Given the description of an element on the screen output the (x, y) to click on. 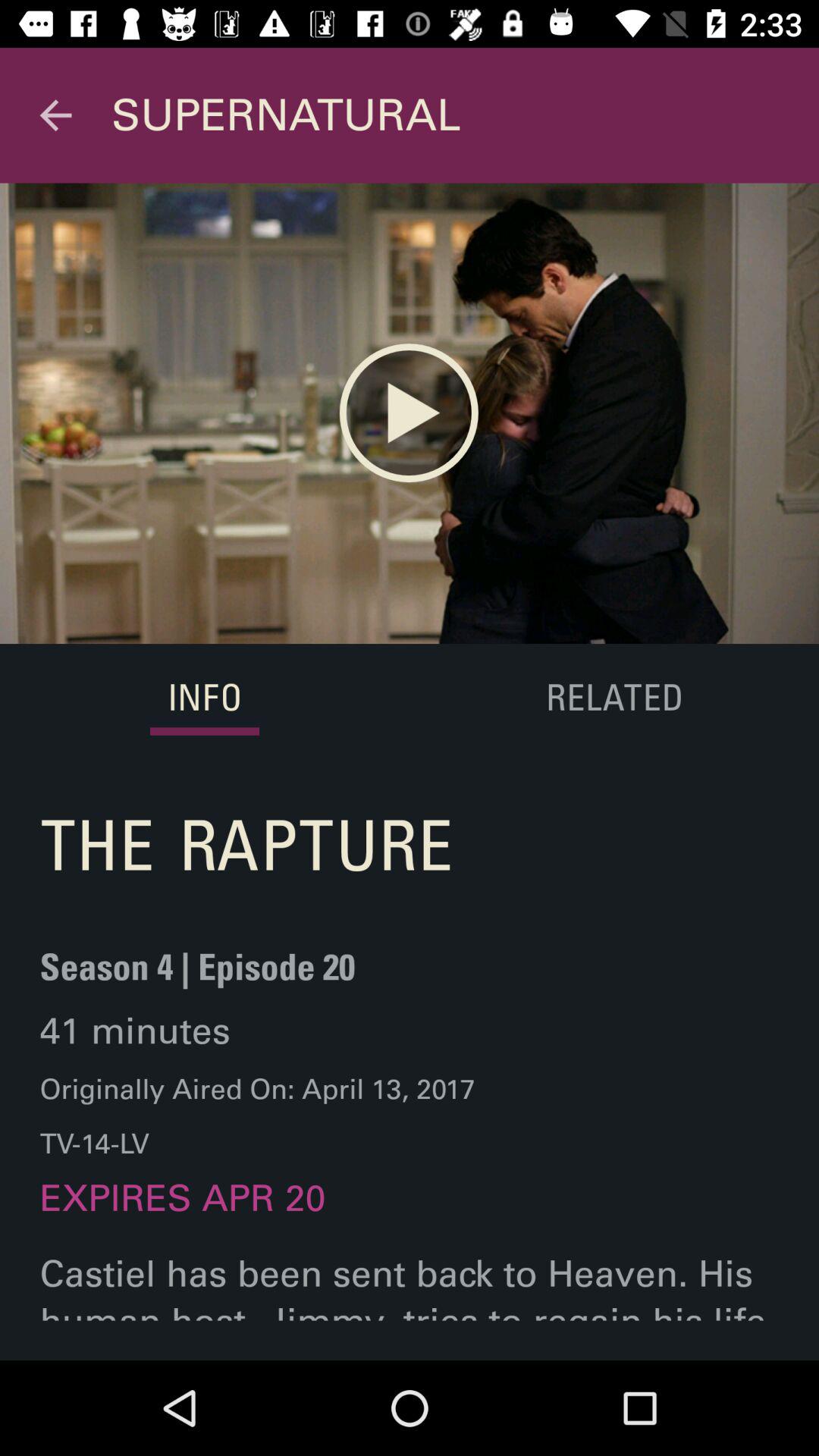
choose item next to the supernatural item (55, 115)
